Given the description of an element on the screen output the (x, y) to click on. 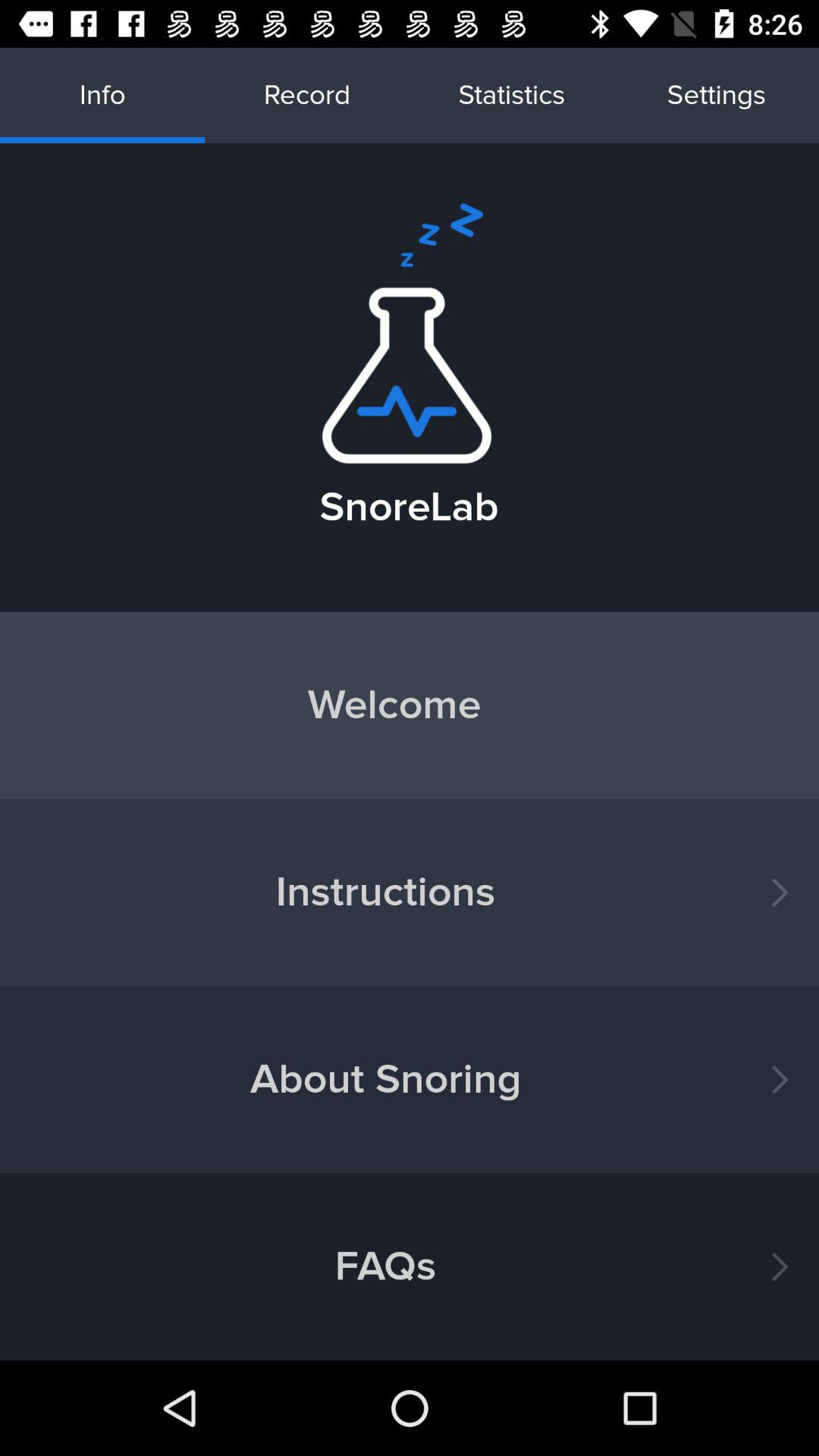
turn on instructions icon (409, 892)
